Given the description of an element on the screen output the (x, y) to click on. 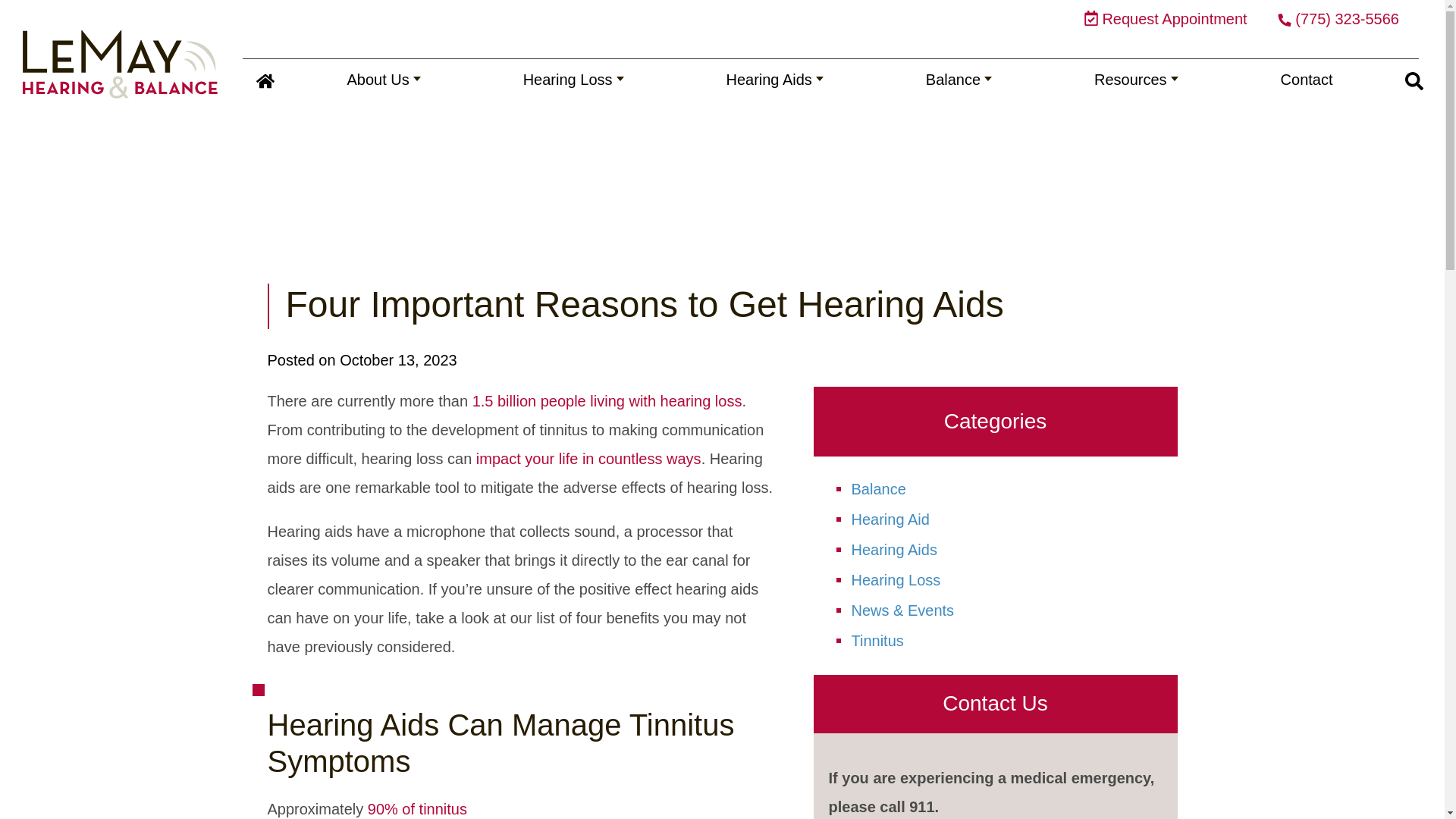
Request Appointment (1165, 18)
Hearing Aids (775, 79)
About Us (383, 79)
Hearing Loss (573, 79)
